Given the description of an element on the screen output the (x, y) to click on. 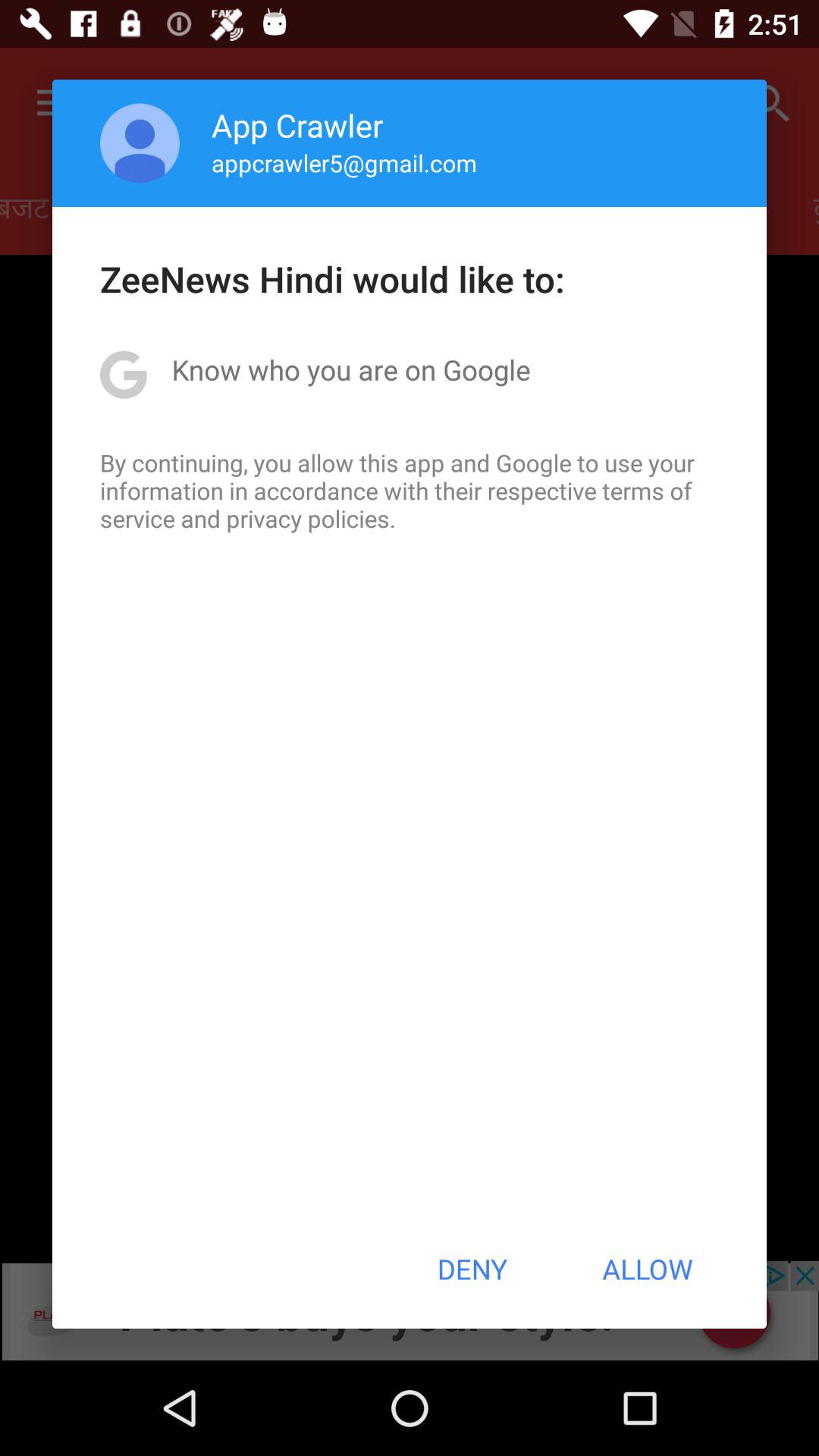
press the icon at the bottom (471, 1268)
